Given the description of an element on the screen output the (x, y) to click on. 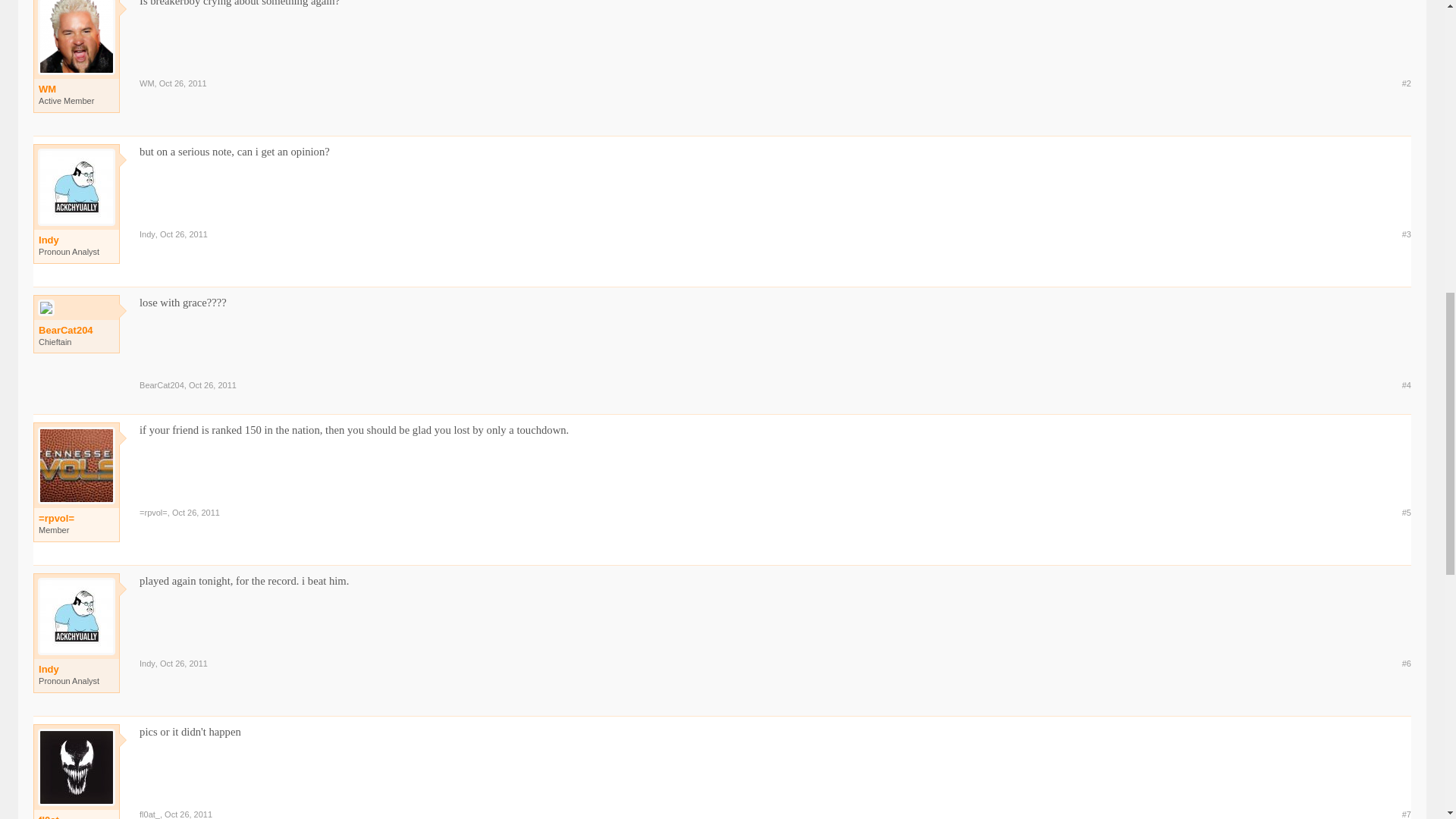
Indy (147, 234)
Indy (77, 240)
Permalink (212, 384)
Permalink (182, 82)
Permalink (195, 511)
Permalink (184, 663)
Oct 26, 2011 (184, 234)
BearCat204 (161, 384)
WM (146, 82)
Oct 26, 2011 (182, 82)
